Given the description of an element on the screen output the (x, y) to click on. 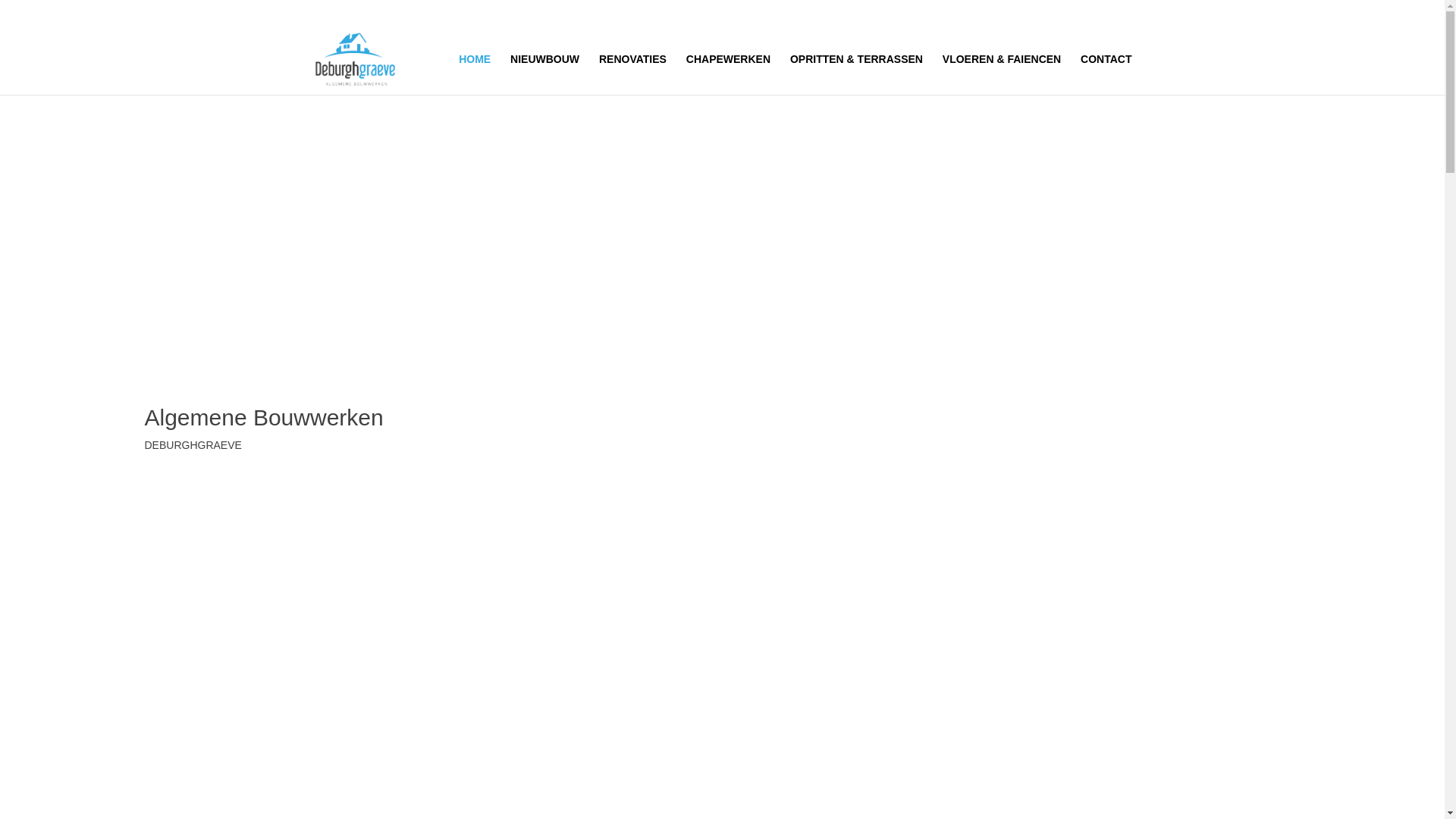
Contact Element type: text (186, 488)
VLOEREN & FAIENCEN Element type: text (1001, 73)
NIEUWBOUW Element type: text (544, 73)
eb.evearghgrubednekrewwuob@liam Element type: text (480, 11)
CONTACT Element type: text (1105, 73)
OPRITTEN & TERRASSEN Element type: text (856, 73)
HOME Element type: text (474, 73)
Afspraak Element type: text (287, 488)
RENOVATIES Element type: text (632, 73)
CHAPEWERKEN Element type: text (728, 73)
